Given the description of an element on the screen output the (x, y) to click on. 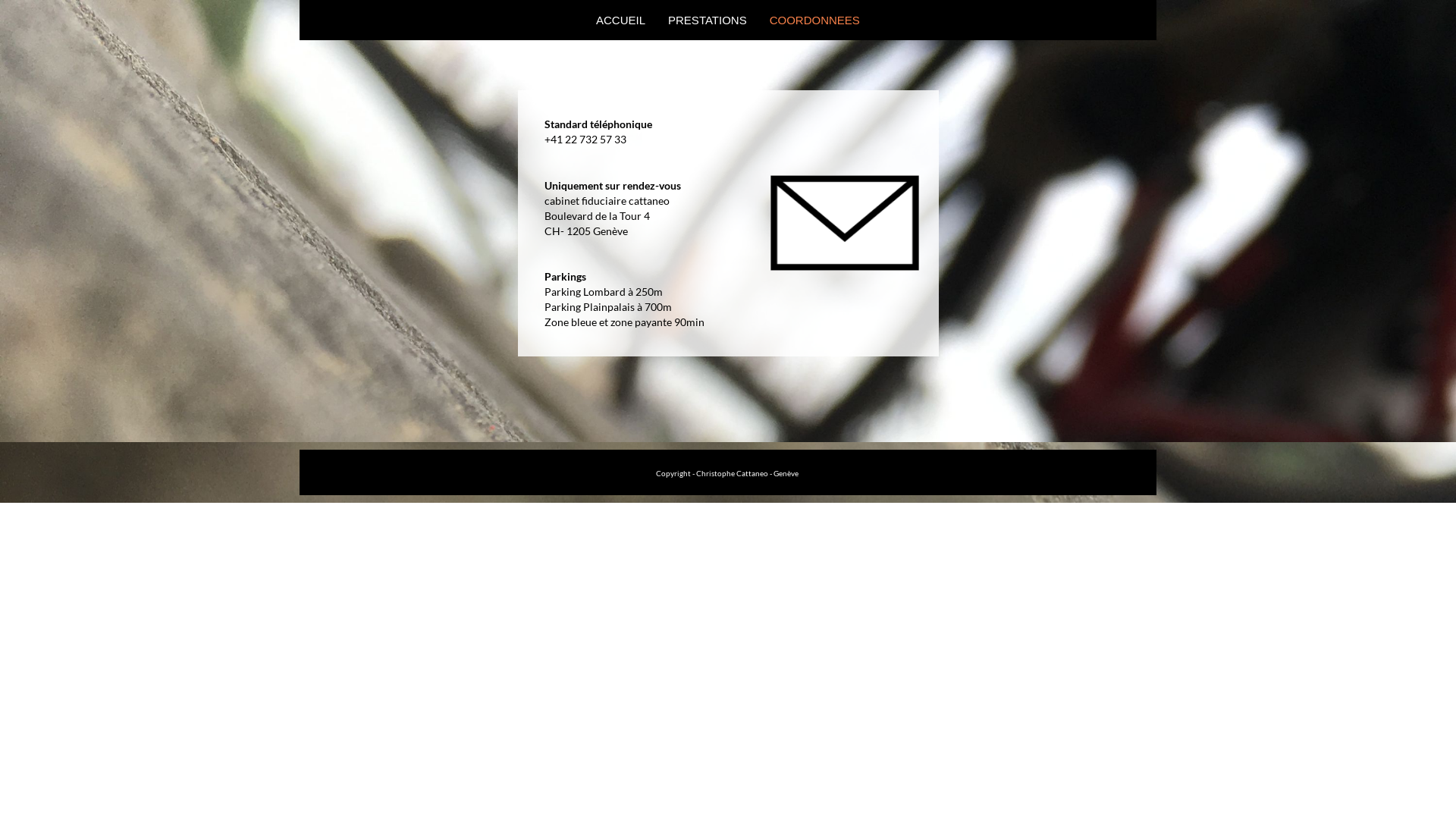
COORDONNEES Element type: text (814, 19)
PRESTATIONS Element type: text (707, 19)
ACCUEIL Element type: text (620, 19)
